Given the description of an element on the screen output the (x, y) to click on. 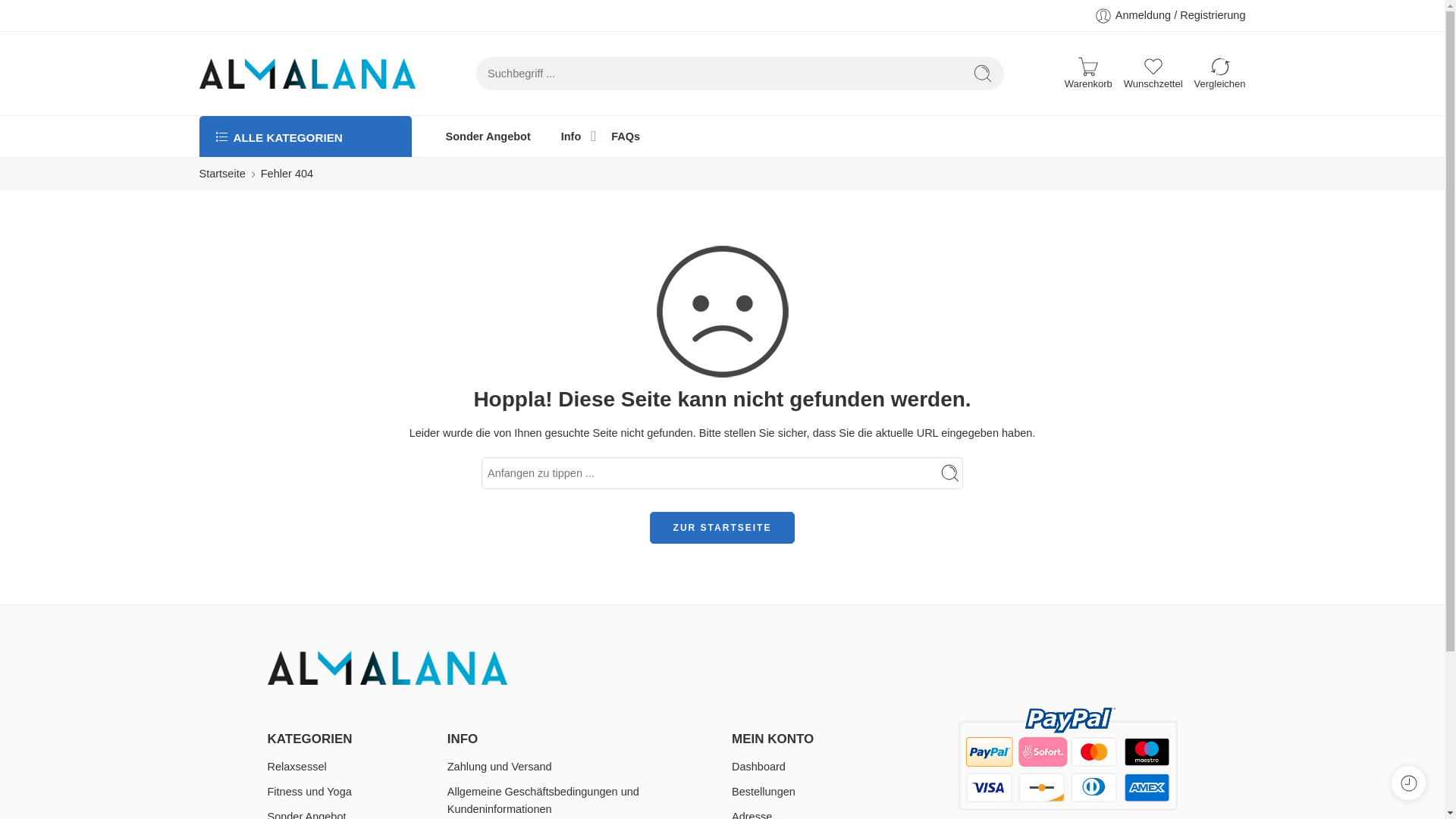
Zahlung und Versand (573, 766)
Dashboard (841, 766)
Fitness und Yoga (352, 791)
Sonder Angebot (488, 137)
Wunschzettel (1153, 73)
Vergleichen (1219, 73)
Wunschzettel (1153, 73)
Warenkorb (1088, 73)
Vergleichen (1219, 73)
Relaxsessel (352, 766)
